Given the description of an element on the screen output the (x, y) to click on. 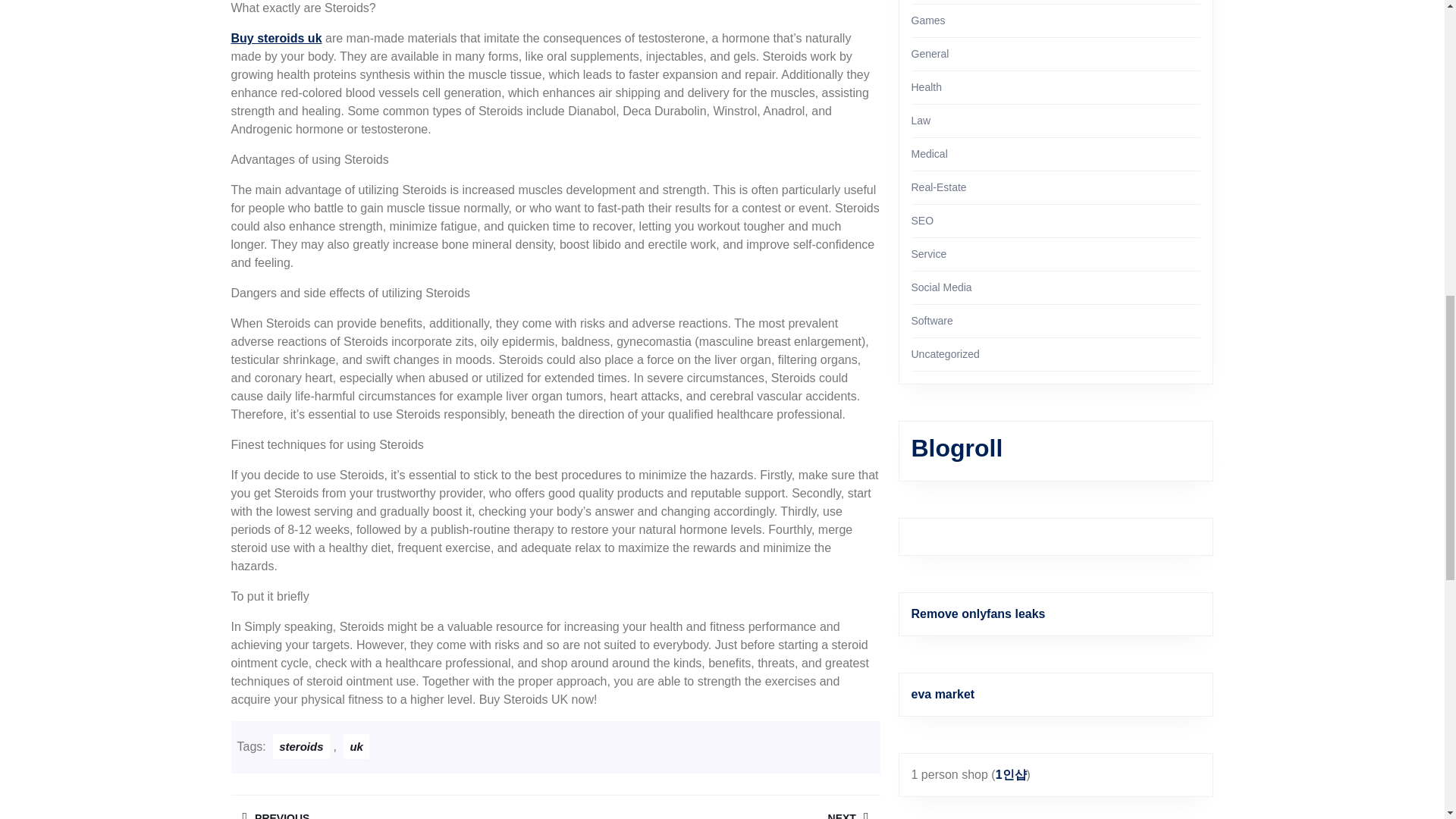
uk (356, 746)
Buy steroids uk (275, 38)
steroids (392, 806)
